Given the description of an element on the screen output the (x, y) to click on. 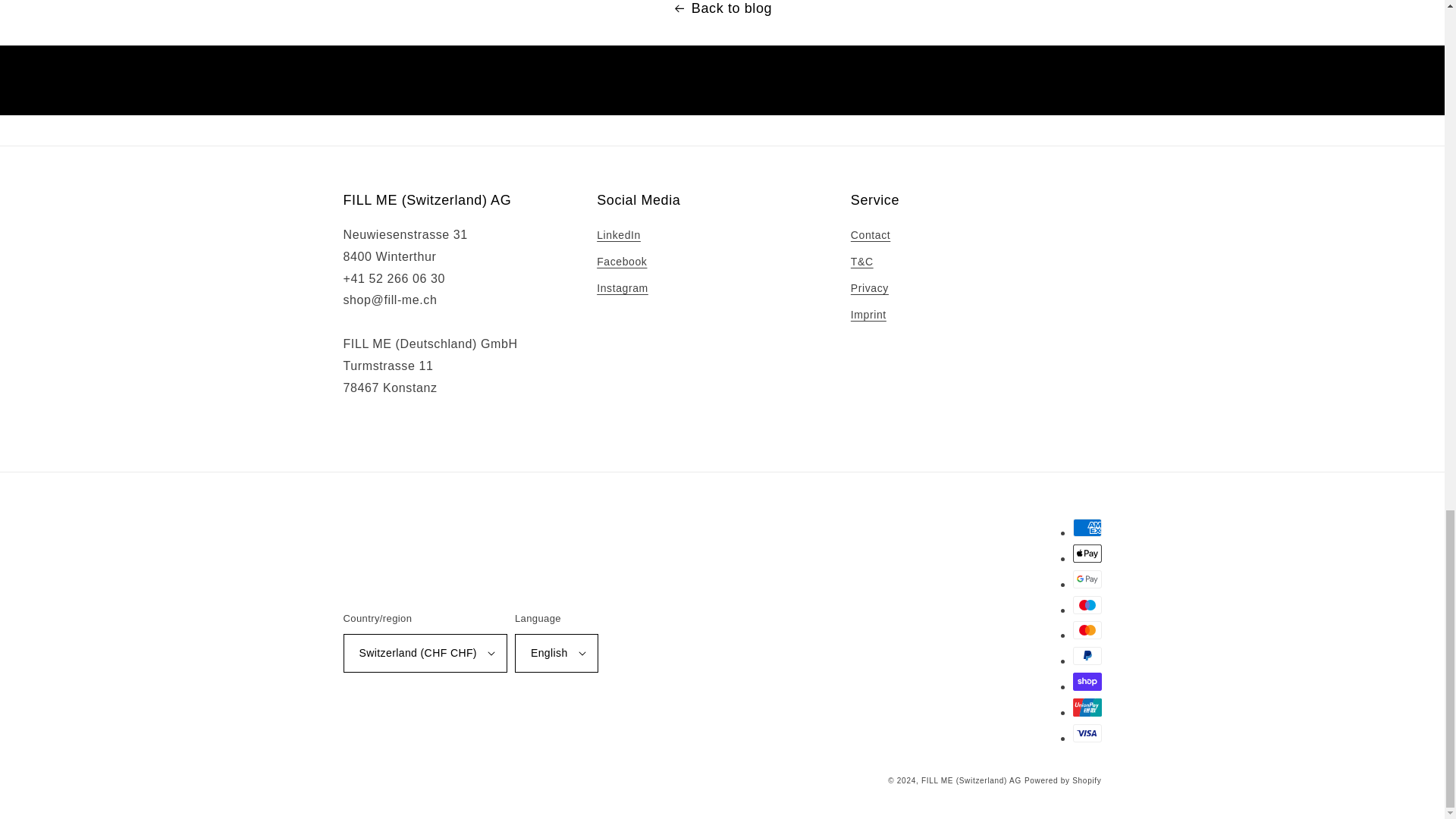
Visa (1085, 732)
LinkedIn (618, 237)
Maestro (1085, 605)
Privacy (869, 288)
PayPal (1085, 656)
Shop Pay (1085, 681)
Facebook (621, 261)
English (556, 652)
Contact (869, 237)
Imprint (868, 315)
Google Pay (1085, 579)
Apple Pay (1085, 553)
Instagram (621, 288)
Union Pay (1085, 707)
American Express (1085, 527)
